Given the description of an element on the screen output the (x, y) to click on. 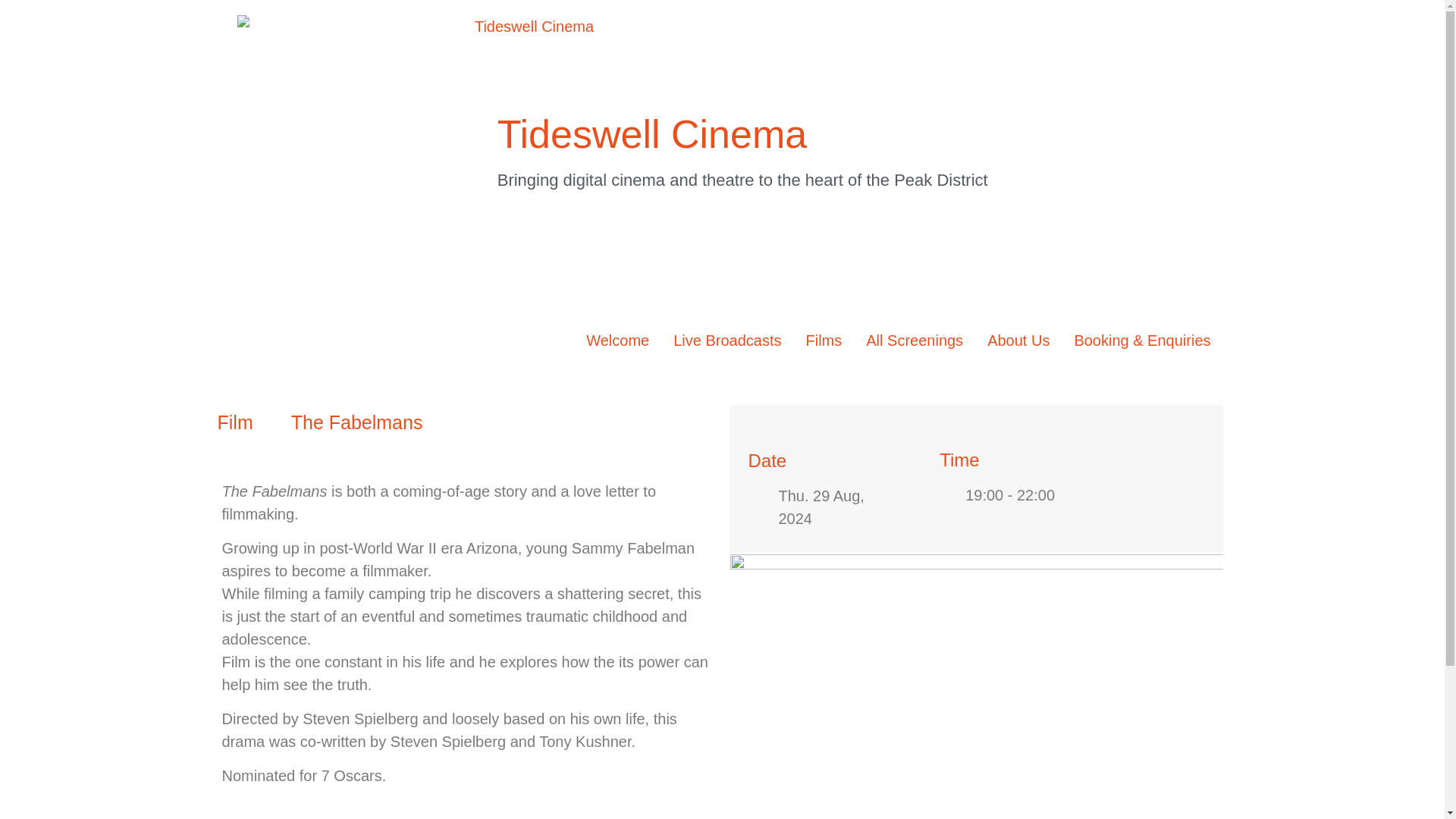
Tideswell Cinema (651, 134)
Films (823, 340)
Live Broadcasts (727, 340)
About Us (1018, 340)
Welcome (617, 340)
All Screenings (914, 340)
